Given the description of an element on the screen output the (x, y) to click on. 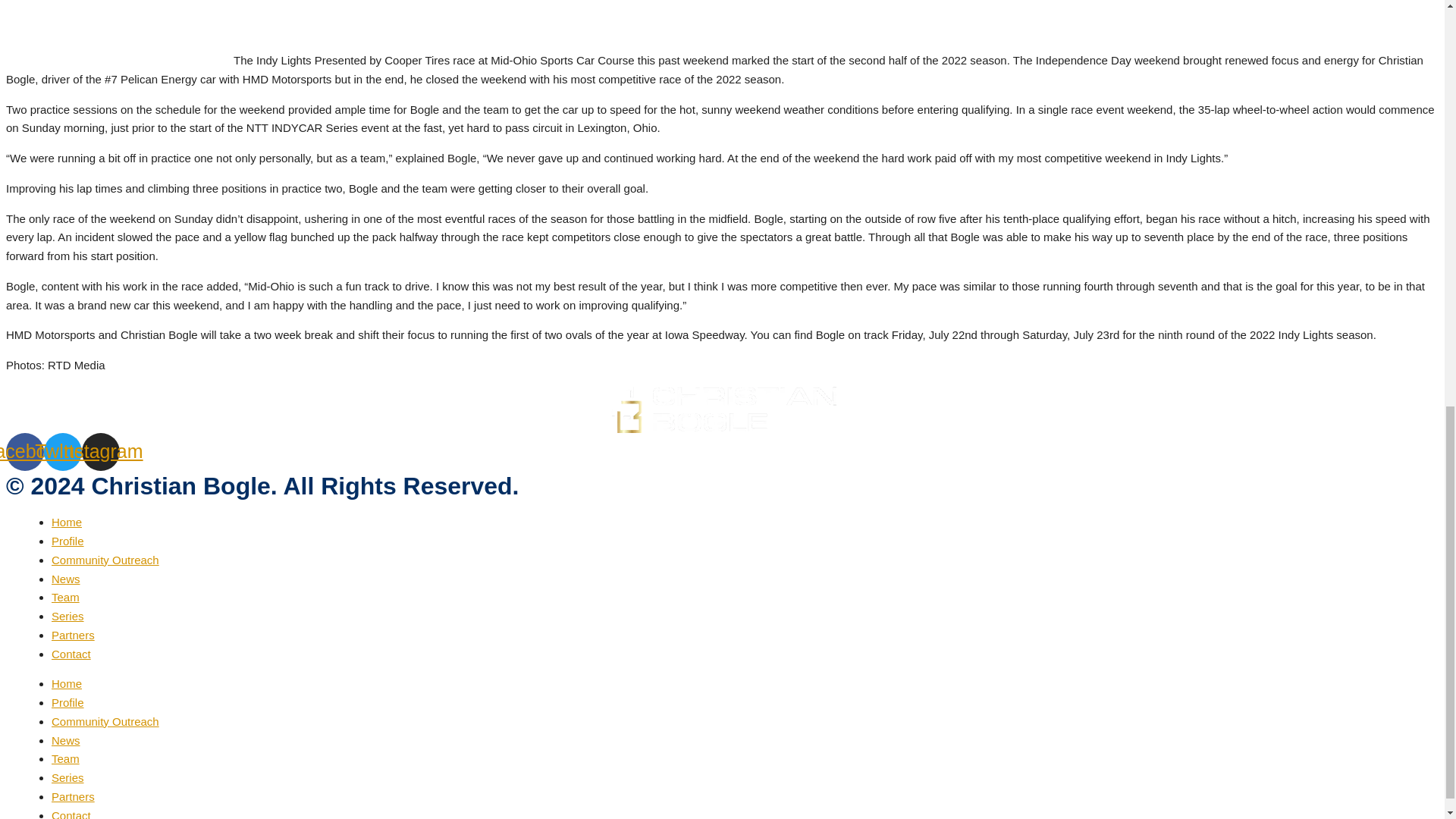
Team (65, 596)
Partners (72, 634)
Home (65, 683)
Contact (70, 653)
Profile (67, 540)
Community Outreach (104, 559)
Facebook (24, 451)
Profile (67, 702)
Team (65, 758)
Series (67, 615)
